Given the description of an element on the screen output the (x, y) to click on. 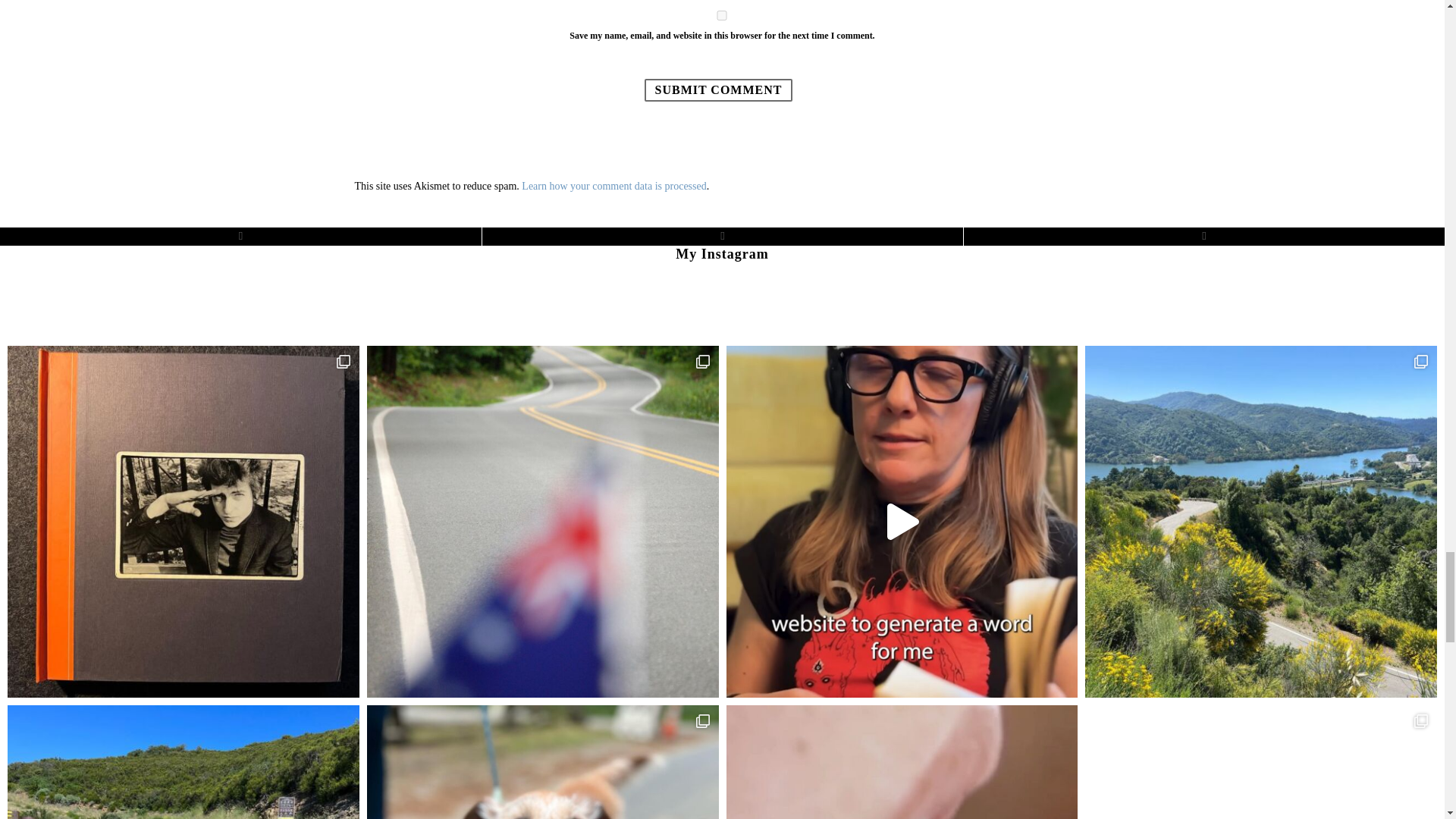
Submit Comment (719, 89)
yes (722, 15)
